Given the description of an element on the screen output the (x, y) to click on. 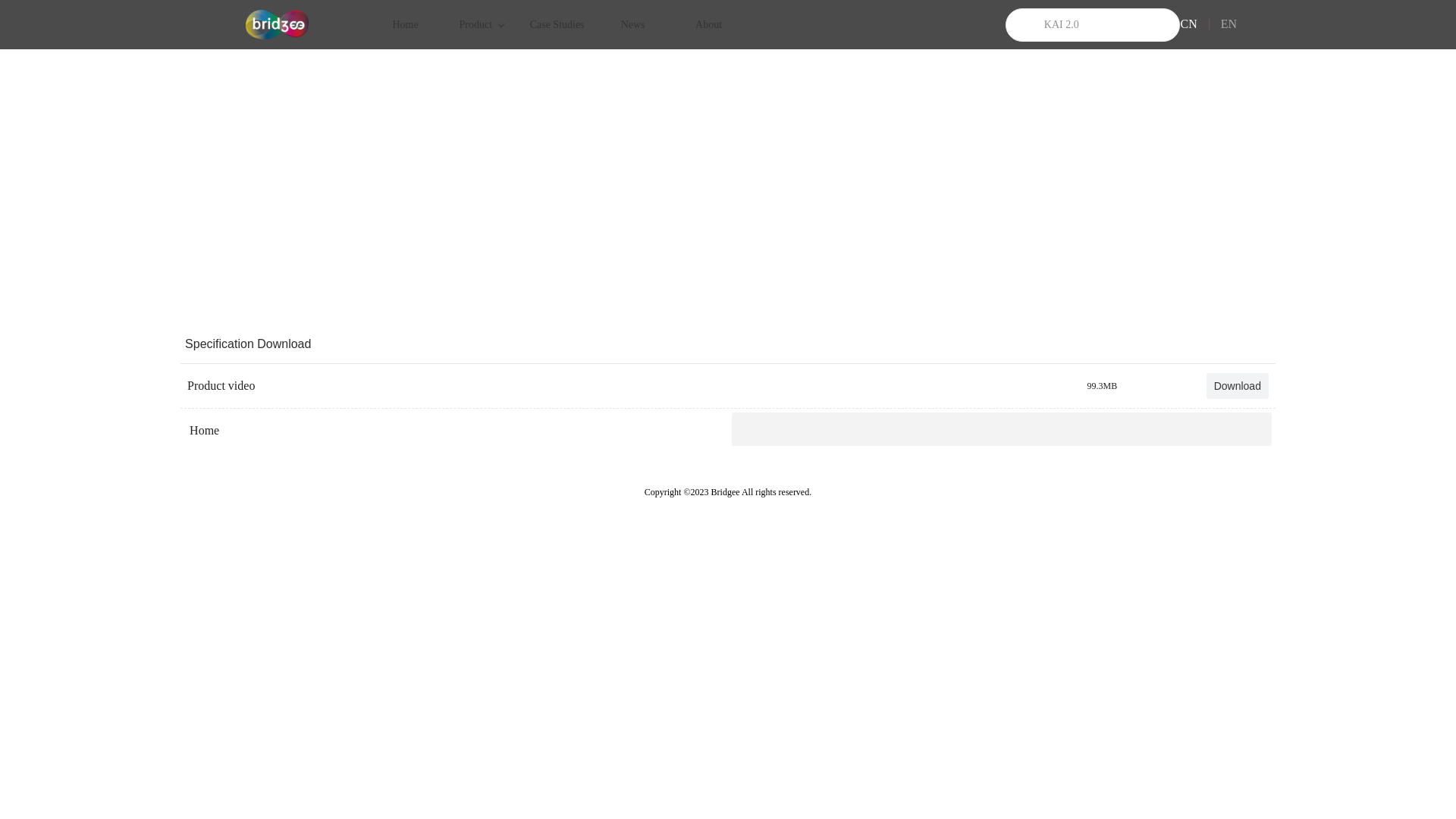
News Element type: text (632, 23)
CN Element type: text (1199, 24)
      Element type: text (187, 415)
Case Studies Element type: text (557, 23)
EN Element type: text (1228, 24)
About Element type: text (708, 23)
Product Element type: text (481, 23)
   Home Element type: text (199, 429)
Download Element type: text (1237, 385)
Home Element type: text (405, 23)
